Given the description of an element on the screen output the (x, y) to click on. 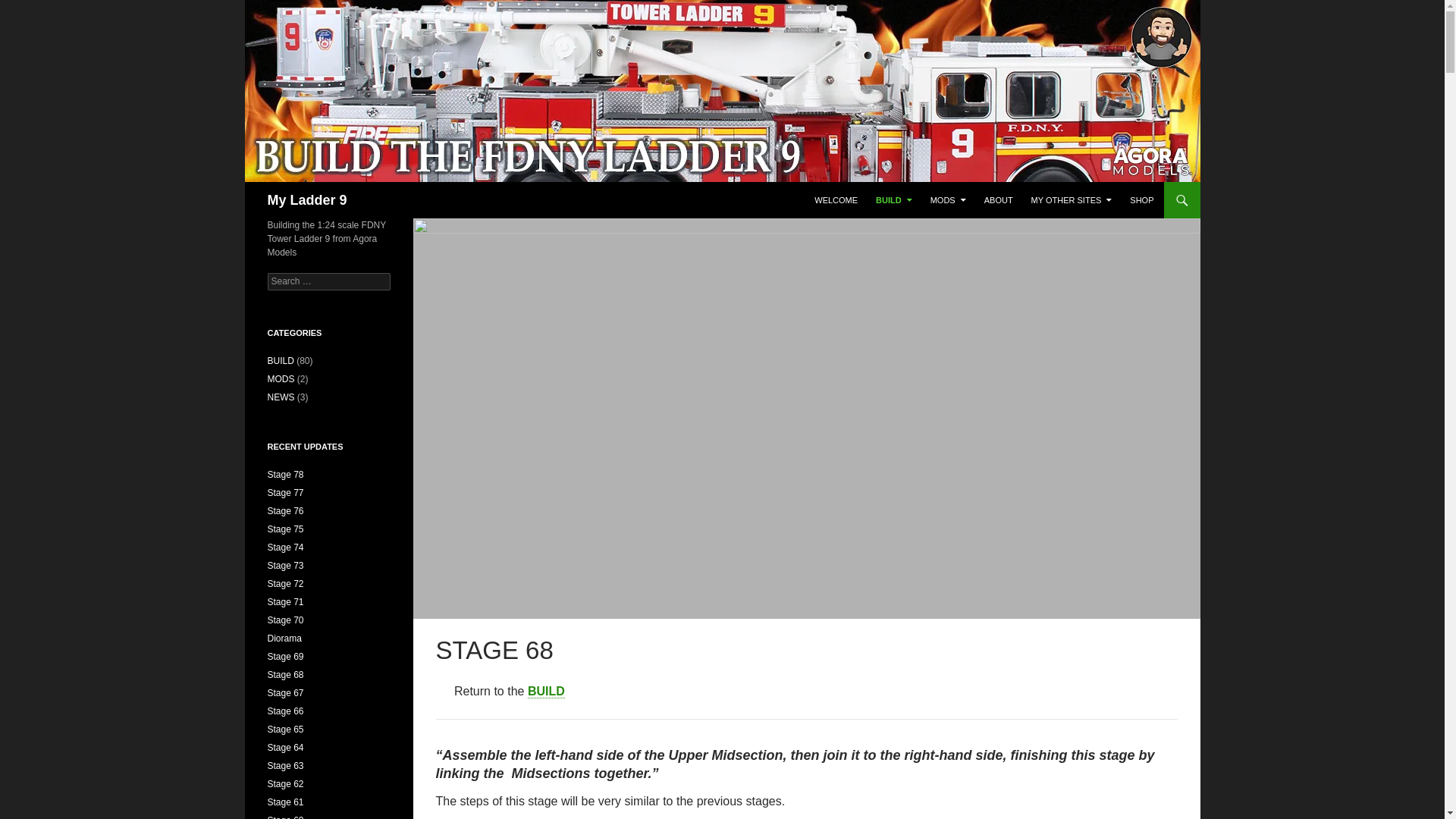
My Ladder 9 (306, 199)
BUILD (893, 199)
WELCOME (835, 199)
